Given the description of an element on the screen output the (x, y) to click on. 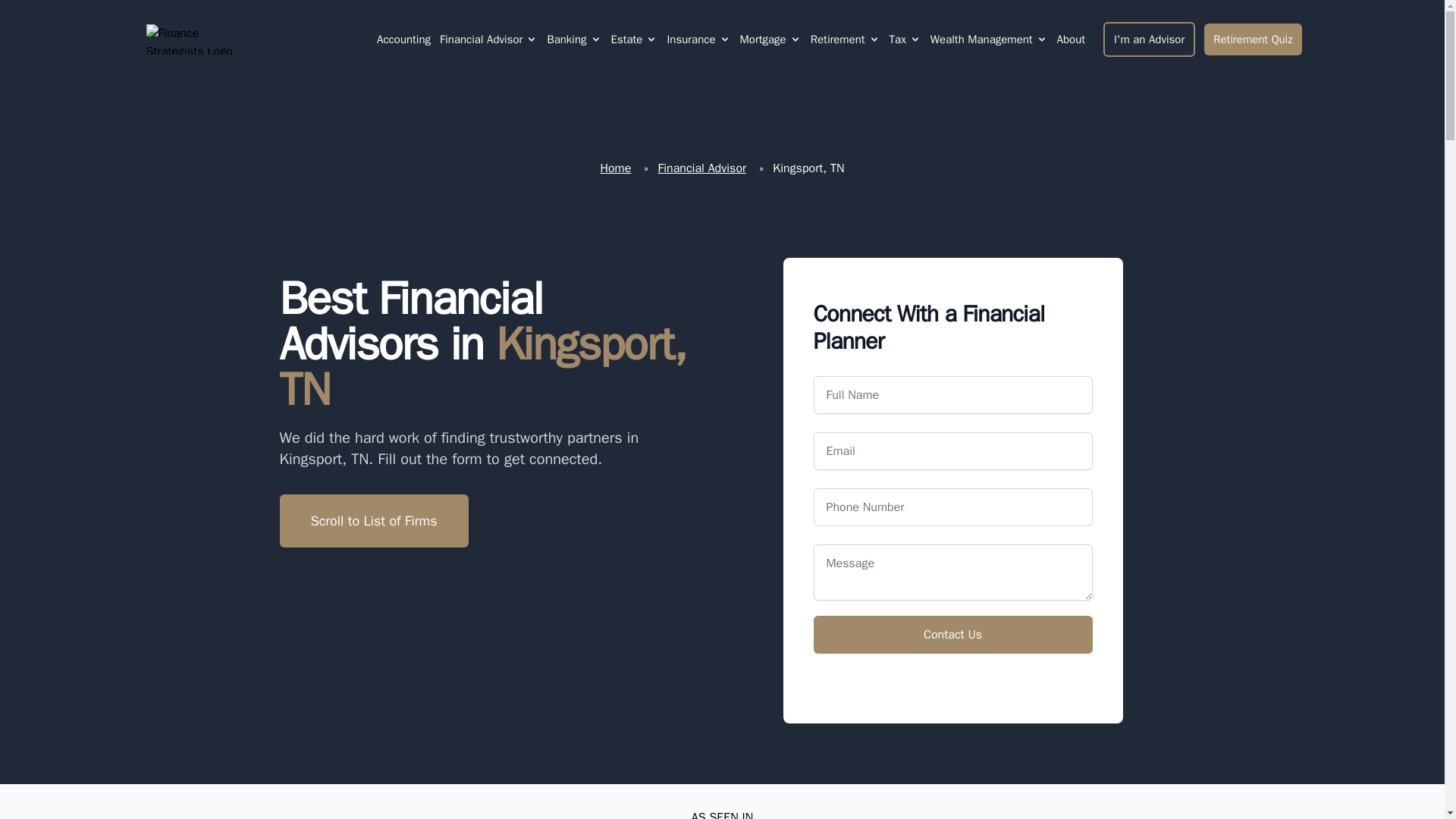
Finance Strategists (199, 39)
Accounting (403, 39)
Financial Advisor (488, 39)
Banking (566, 39)
Banking (573, 39)
Financial Advisor (480, 39)
Accounting (403, 39)
